Given the description of an element on the screen output the (x, y) to click on. 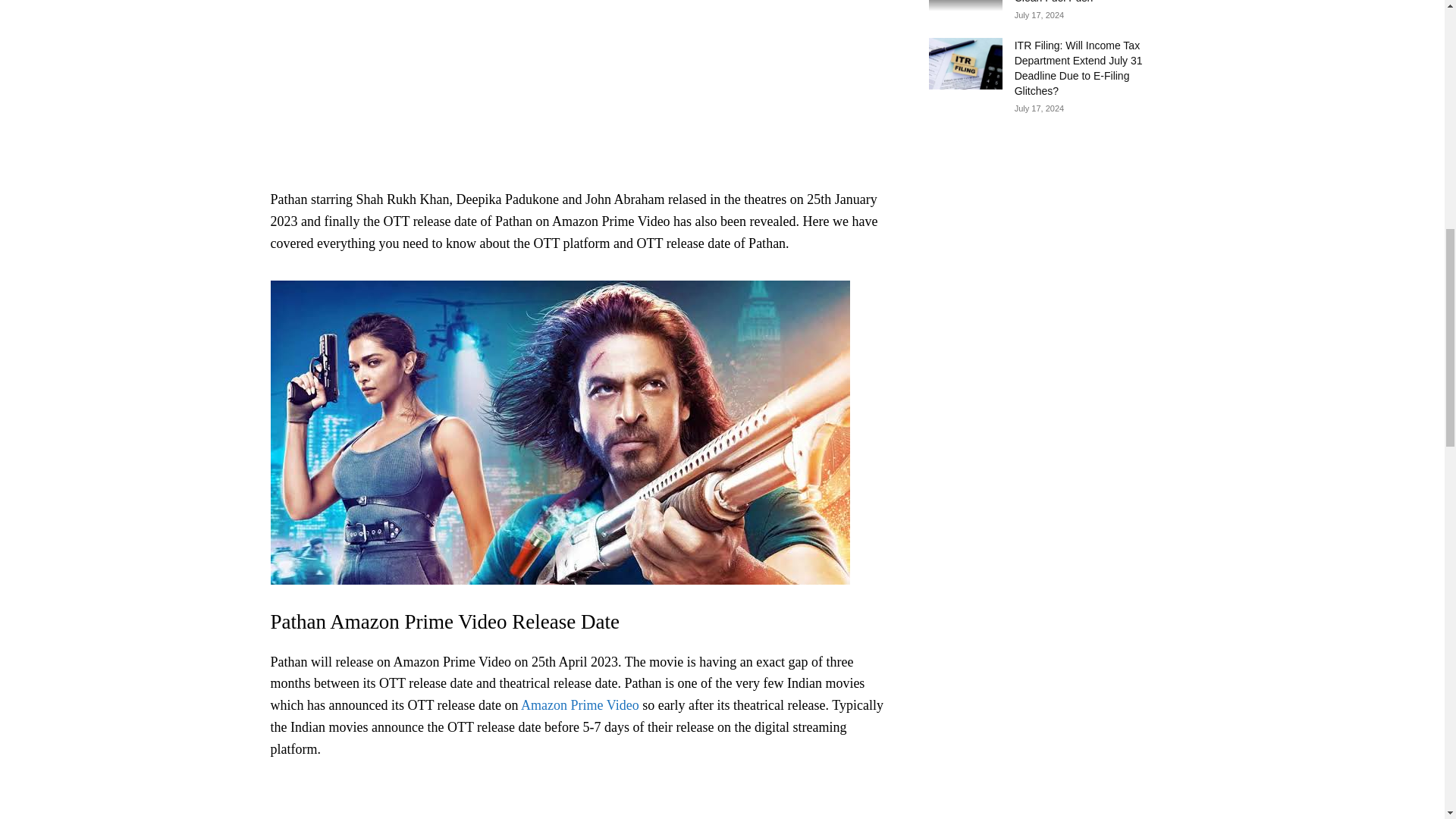
Advertisement (580, 91)
